Given the description of an element on the screen output the (x, y) to click on. 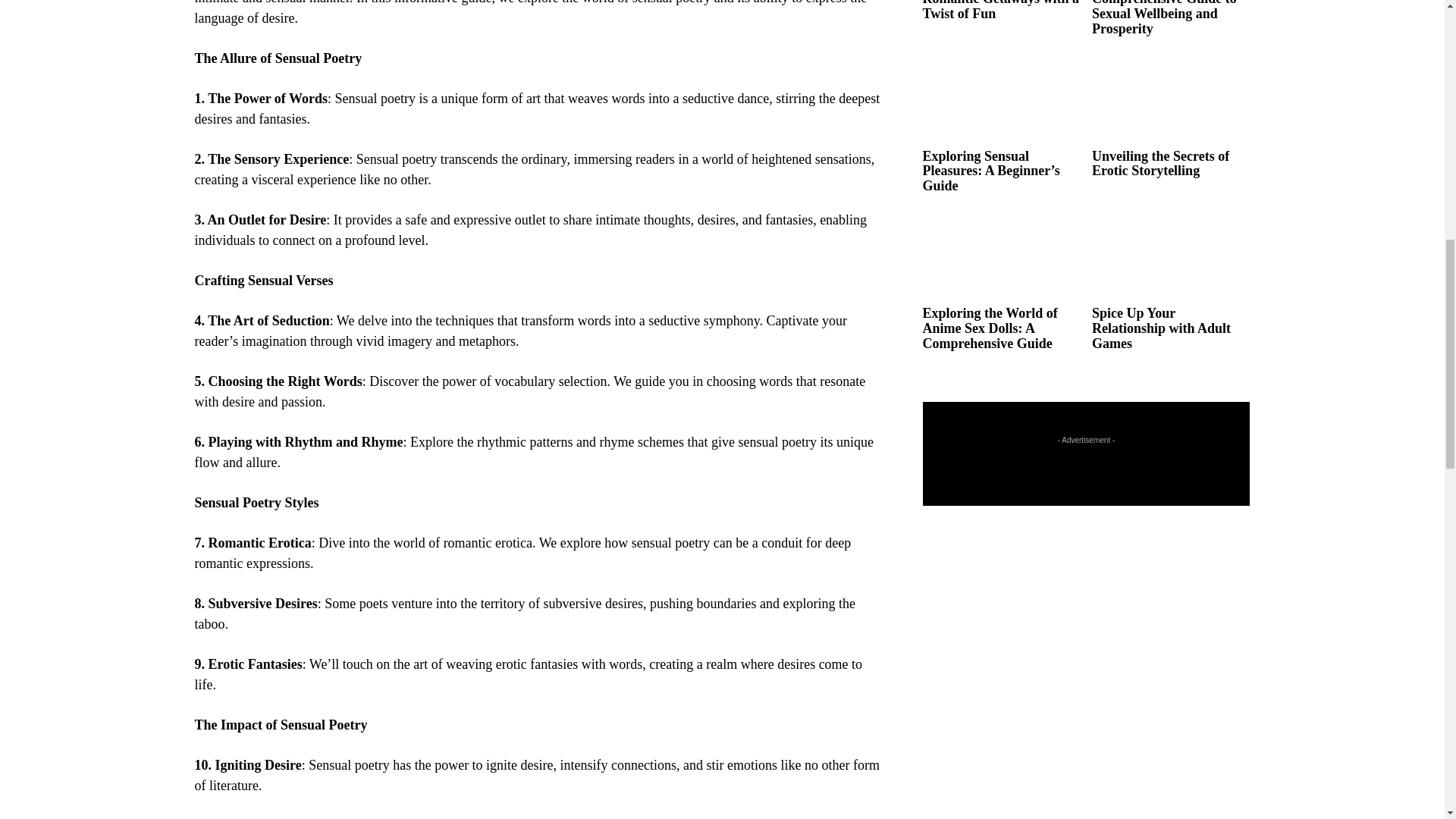
Laugh, Play, Love: Romantic Getaways with a Twist of Fun (999, 10)
